Given the description of an element on the screen output the (x, y) to click on. 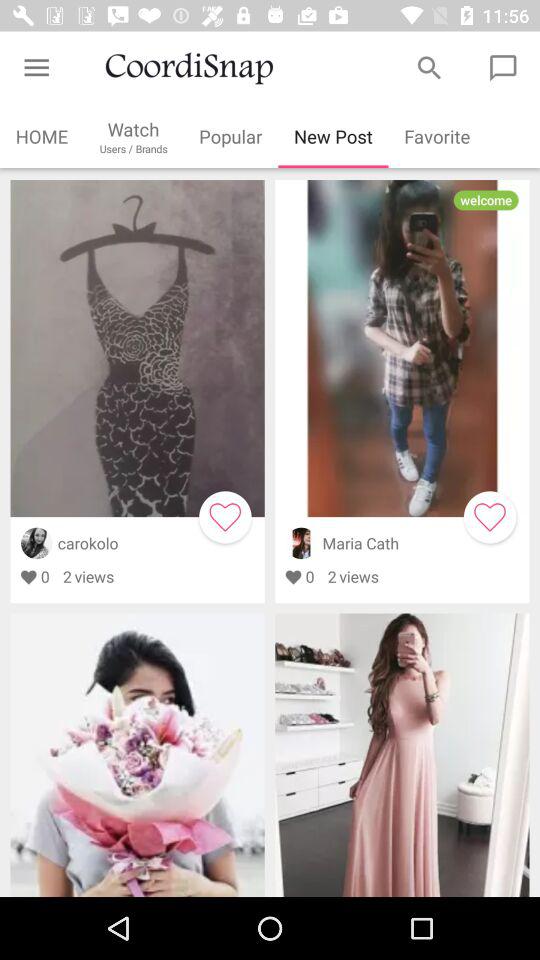
turn on icon above favorite icon (429, 67)
